Given the description of an element on the screen output the (x, y) to click on. 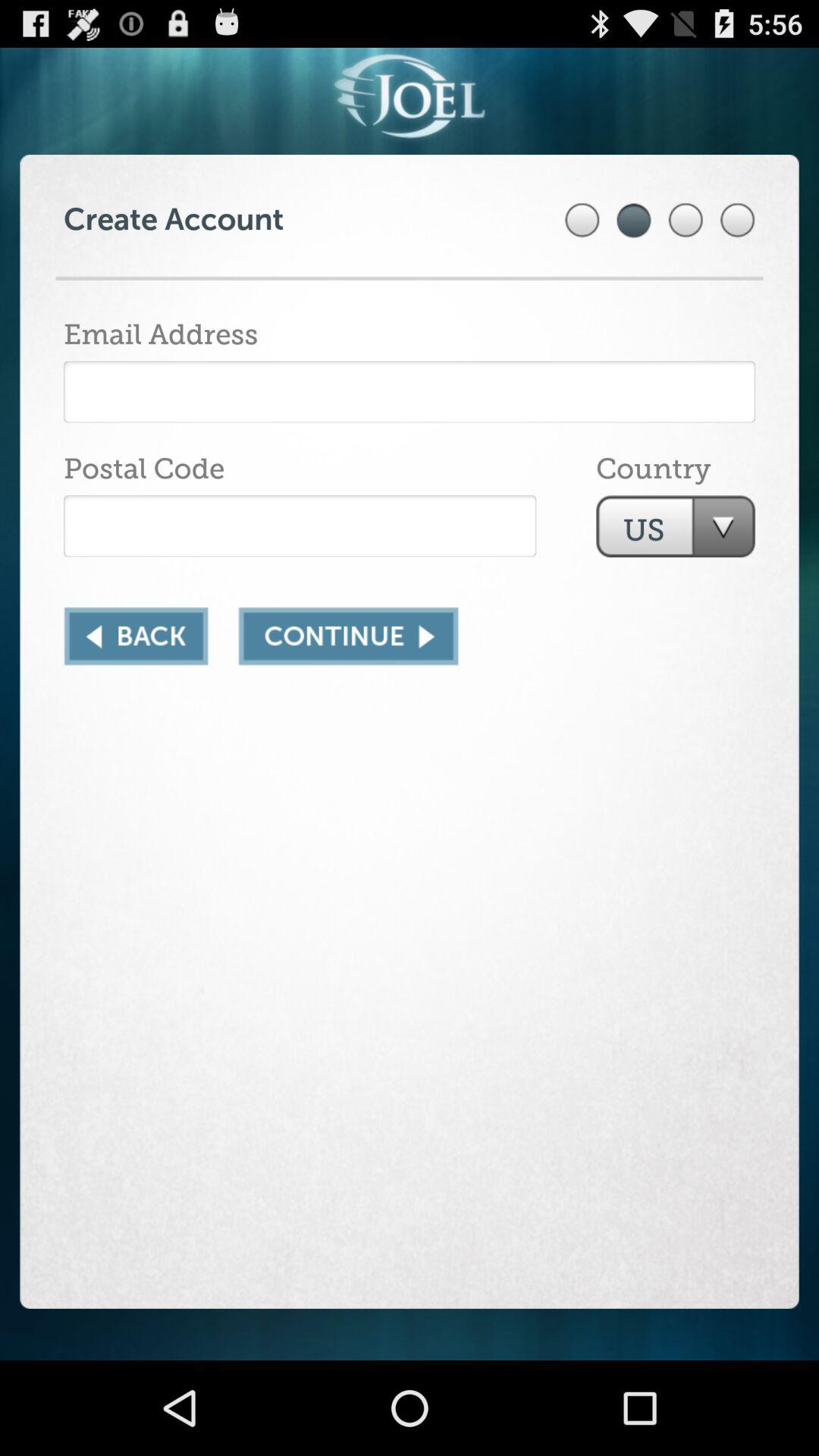
continue (348, 636)
